Given the description of an element on the screen output the (x, y) to click on. 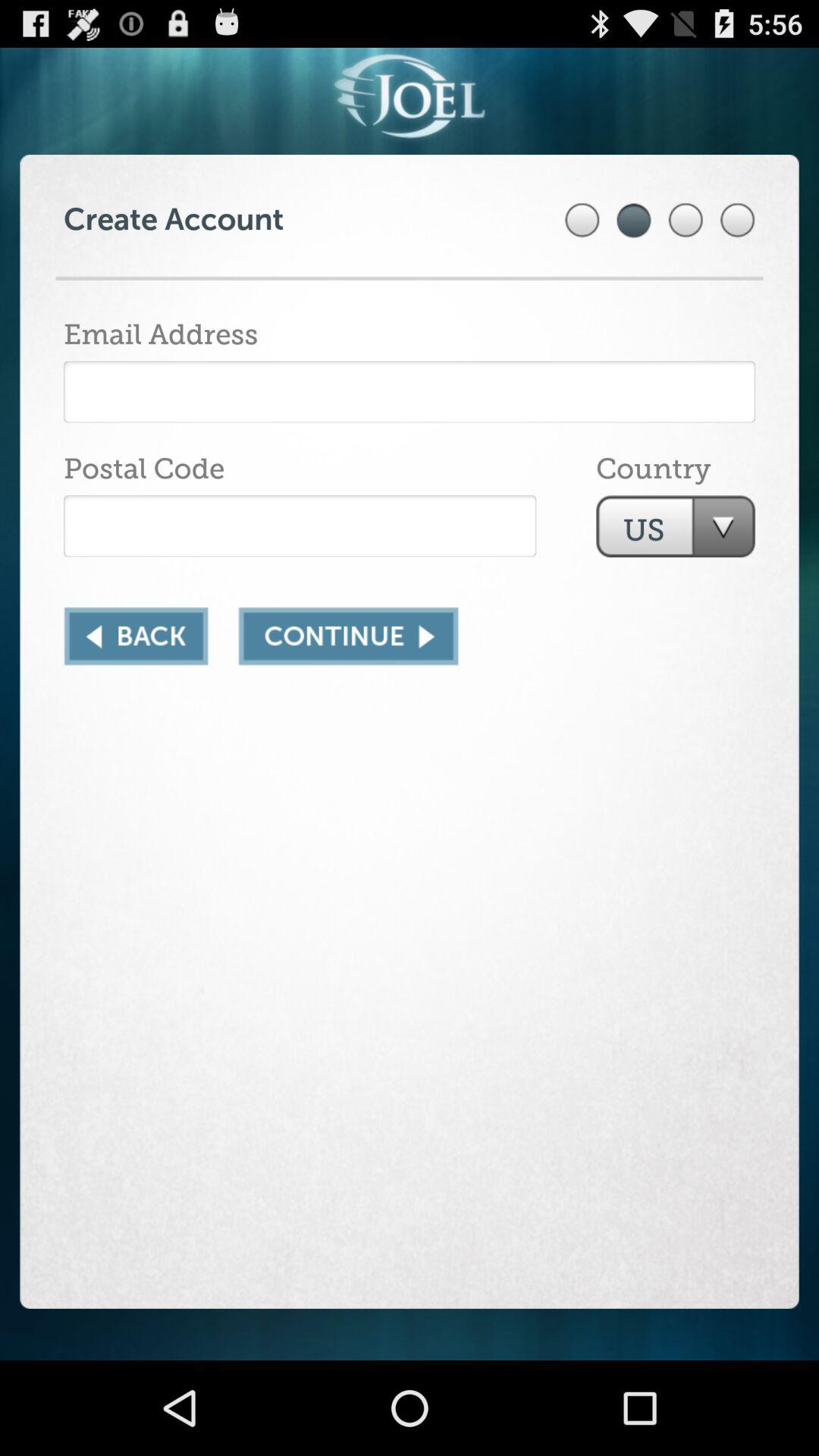
continue (348, 636)
